Given the description of an element on the screen output the (x, y) to click on. 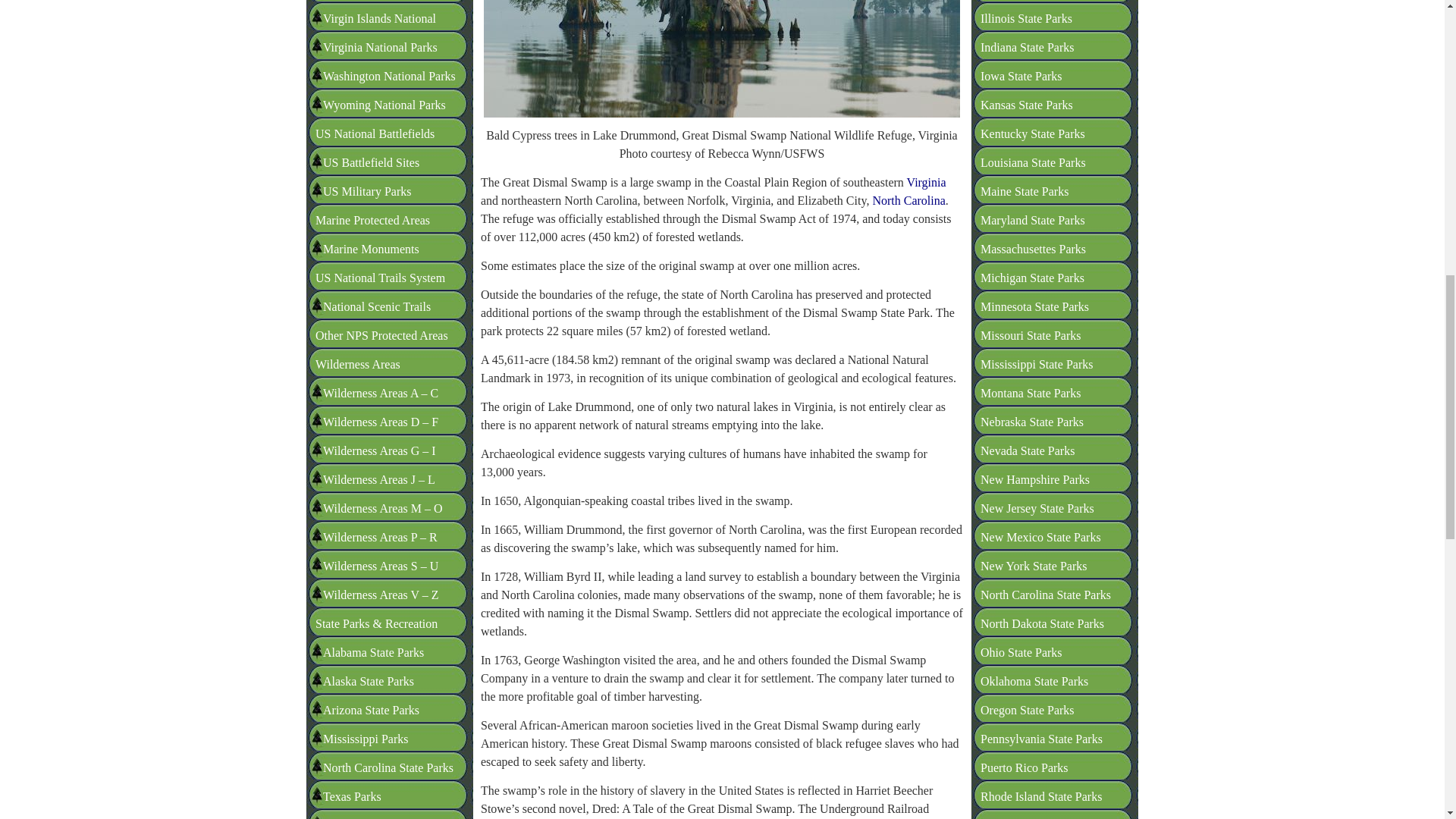
Alaska State Parks (368, 544)
US National Trails System (380, 141)
US National Battlefields (374, 2)
Arizona State Parks (371, 573)
Wilderness Areas (357, 227)
US Military Parks (366, 54)
Marine Protected Areas (372, 83)
National Scenic Trails (376, 169)
Other NPS Protected Areas (381, 198)
Alabama State Parks (373, 515)
